Given the description of an element on the screen output the (x, y) to click on. 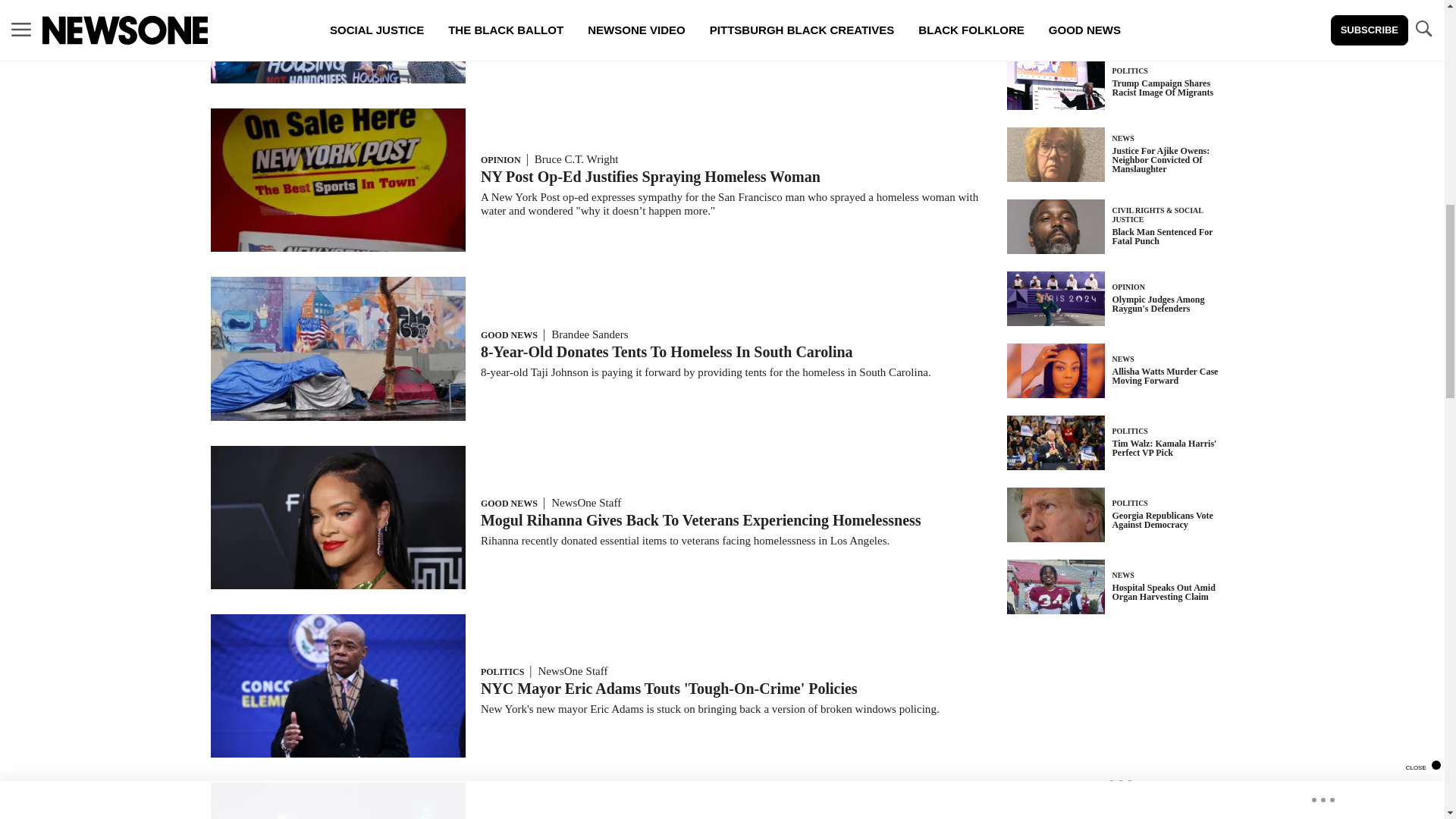
NY Post Op-Ed Justifies Spraying Homeless Woman (650, 176)
POLITICS (502, 671)
Is It Illegal To Be Homeless? SCOTUS Decides (631, 7)
Bruce C.T. Wright (576, 159)
GOOD NEWS (508, 502)
OPINION (500, 159)
GOOD NEWS (508, 335)
8-Year-Old Donates Tents To Homeless In South Carolina (666, 351)
NYC Mayor Eric Adams Touts 'Tough-On-Crime' Policies (668, 688)
